Given the description of an element on the screen output the (x, y) to click on. 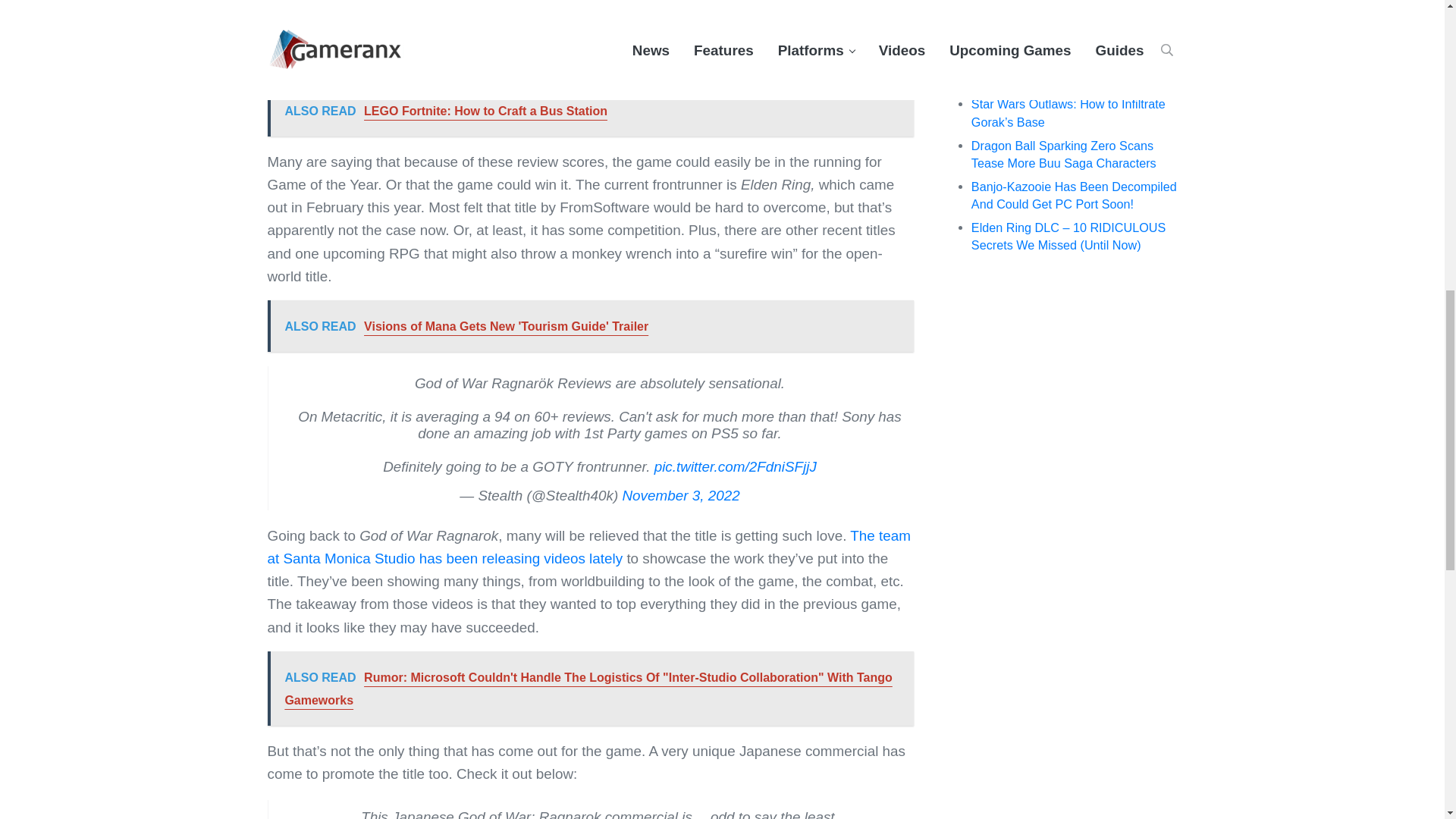
November 3, 2022 (680, 495)
ALSO READ  LEGO Fortnite: How to Craft a Bus Station (589, 110)
ALSO READ  Visions of Mana Gets New 'Tourism Guide' Trailer (589, 326)
